Given the description of an element on the screen output the (x, y) to click on. 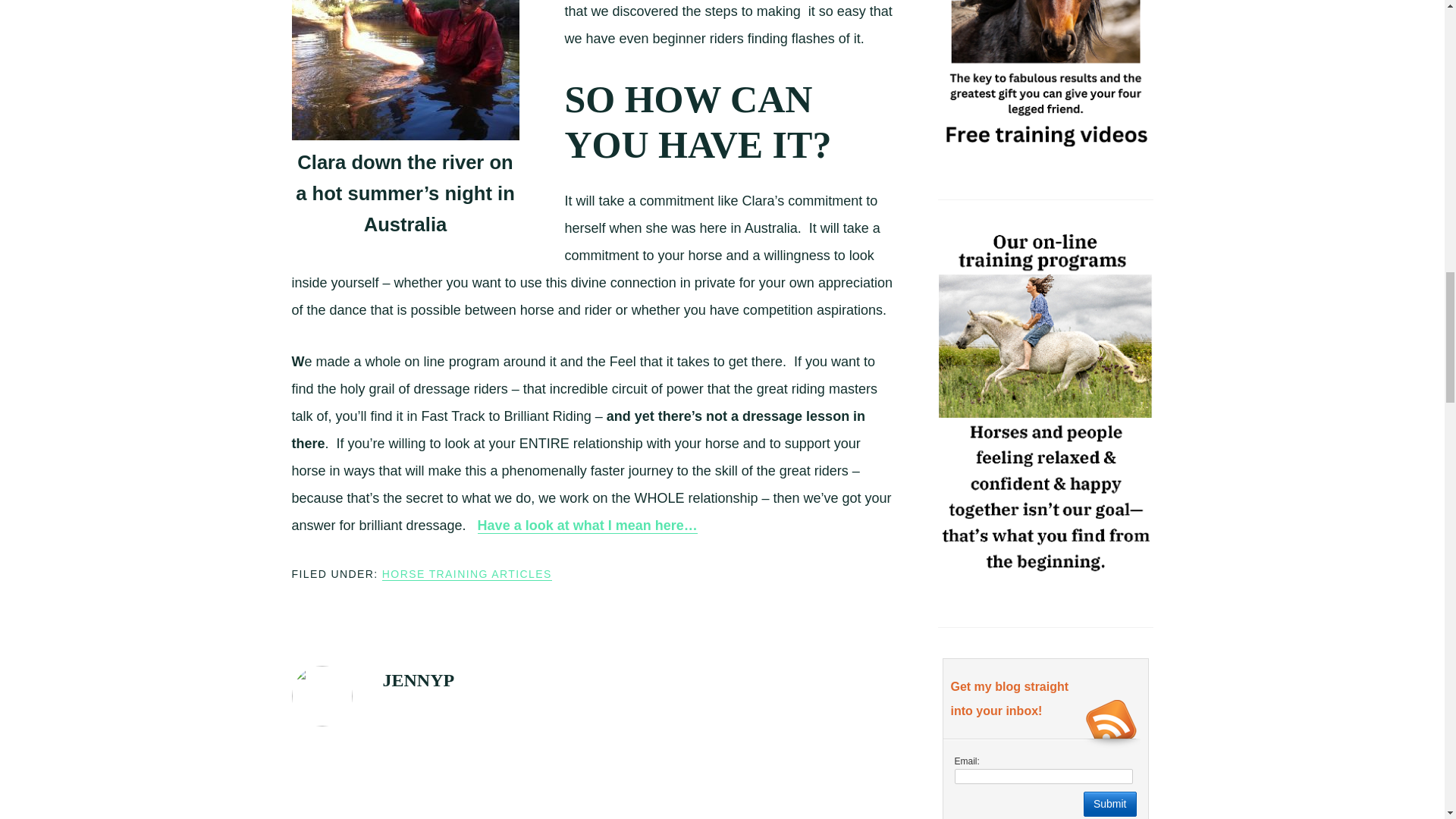
Submit (1110, 803)
Submit (1110, 803)
HORSE TRAINING ARTICLES (466, 574)
